Given the description of an element on the screen output the (x, y) to click on. 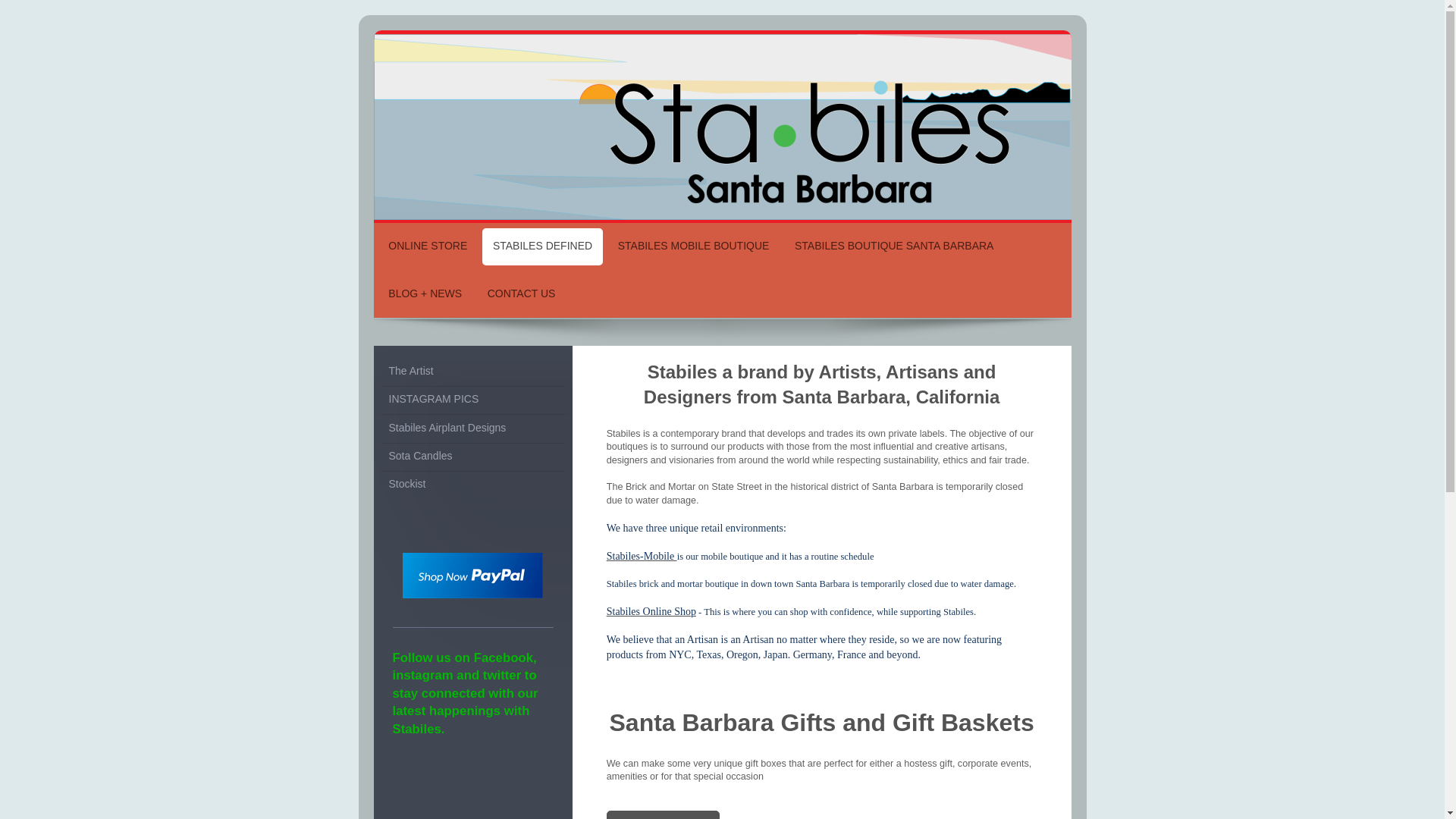
Stabiles-Mobile  (642, 555)
CONTACT US (521, 294)
STABILES BOUTIQUE SANTA BARBARA (894, 246)
ONLINE STORE (427, 246)
Stabiles Online Shop (651, 611)
STABILES MOBILE BOUTIQUE (693, 246)
STABILES DEFINED (541, 246)
